Given the description of an element on the screen output the (x, y) to click on. 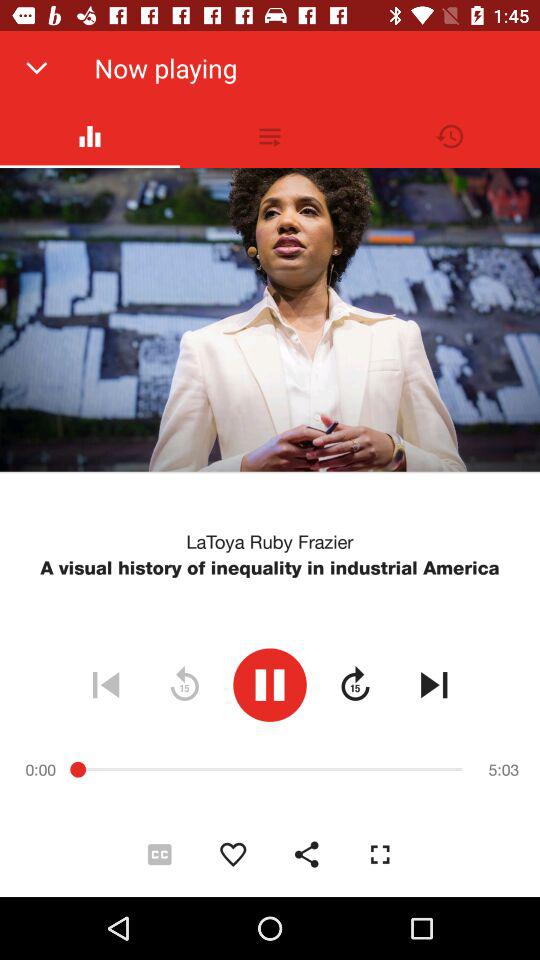
tap the item below the a visual history (433, 684)
